Given the description of an element on the screen output the (x, y) to click on. 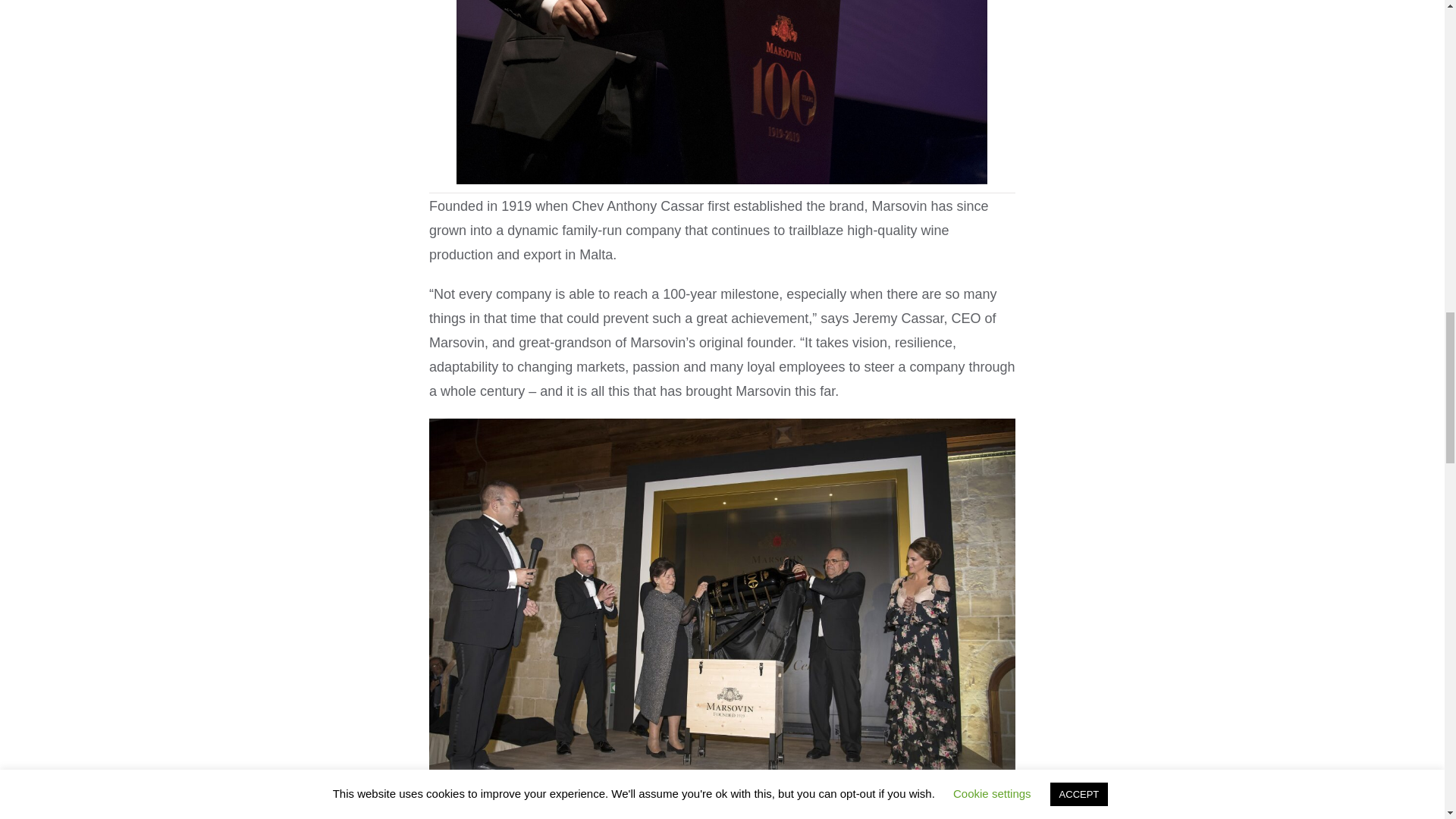
3. Mr Jeremy Cassar (722, 92)
